Given the description of an element on the screen output the (x, y) to click on. 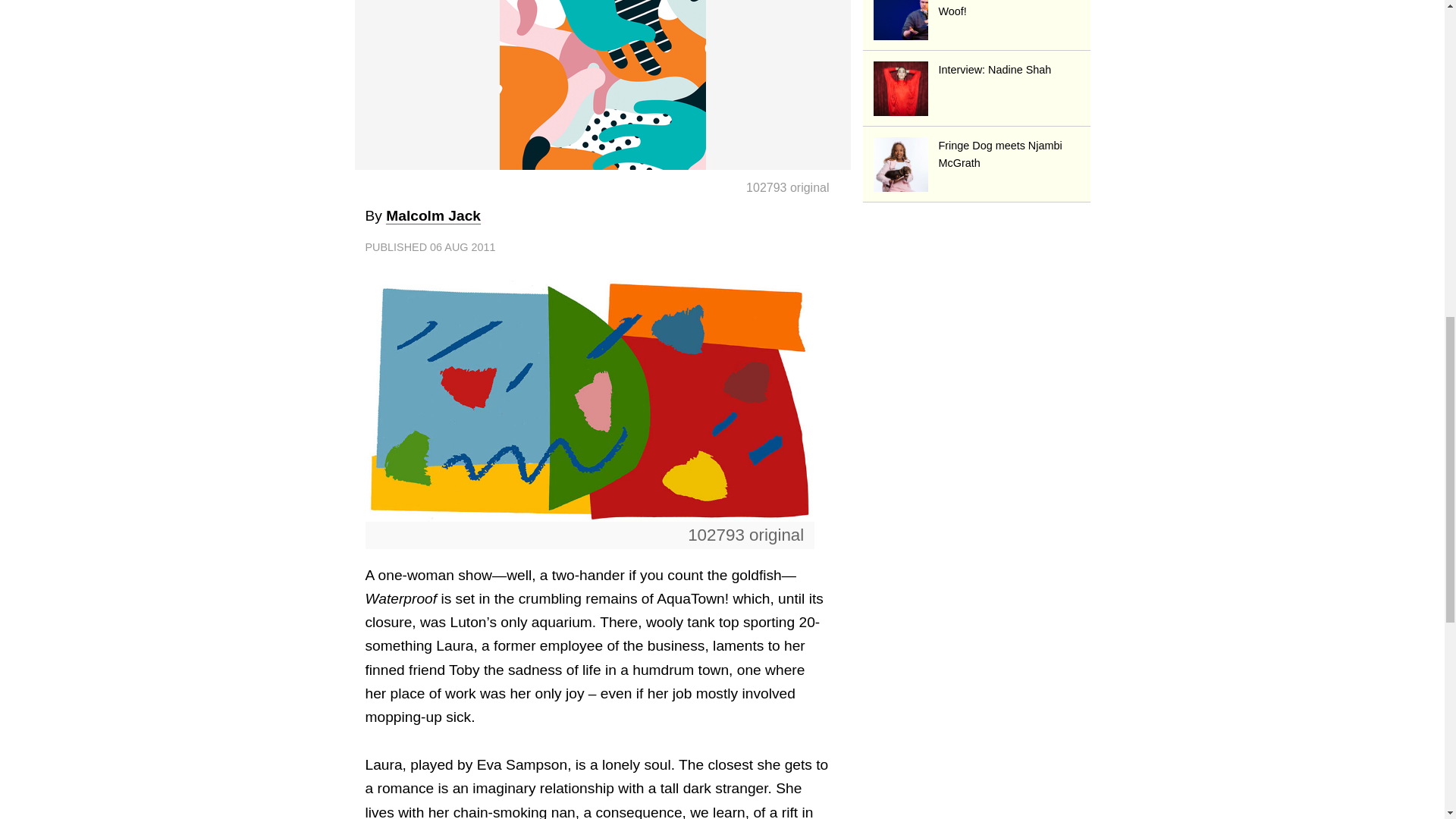
Review: Hannah Gadsby: Woof! (976, 9)
Interview: Nadine Shah (976, 68)
Fringe Dog meets Njambi McGrath (976, 153)
